Given the description of an element on the screen output the (x, y) to click on. 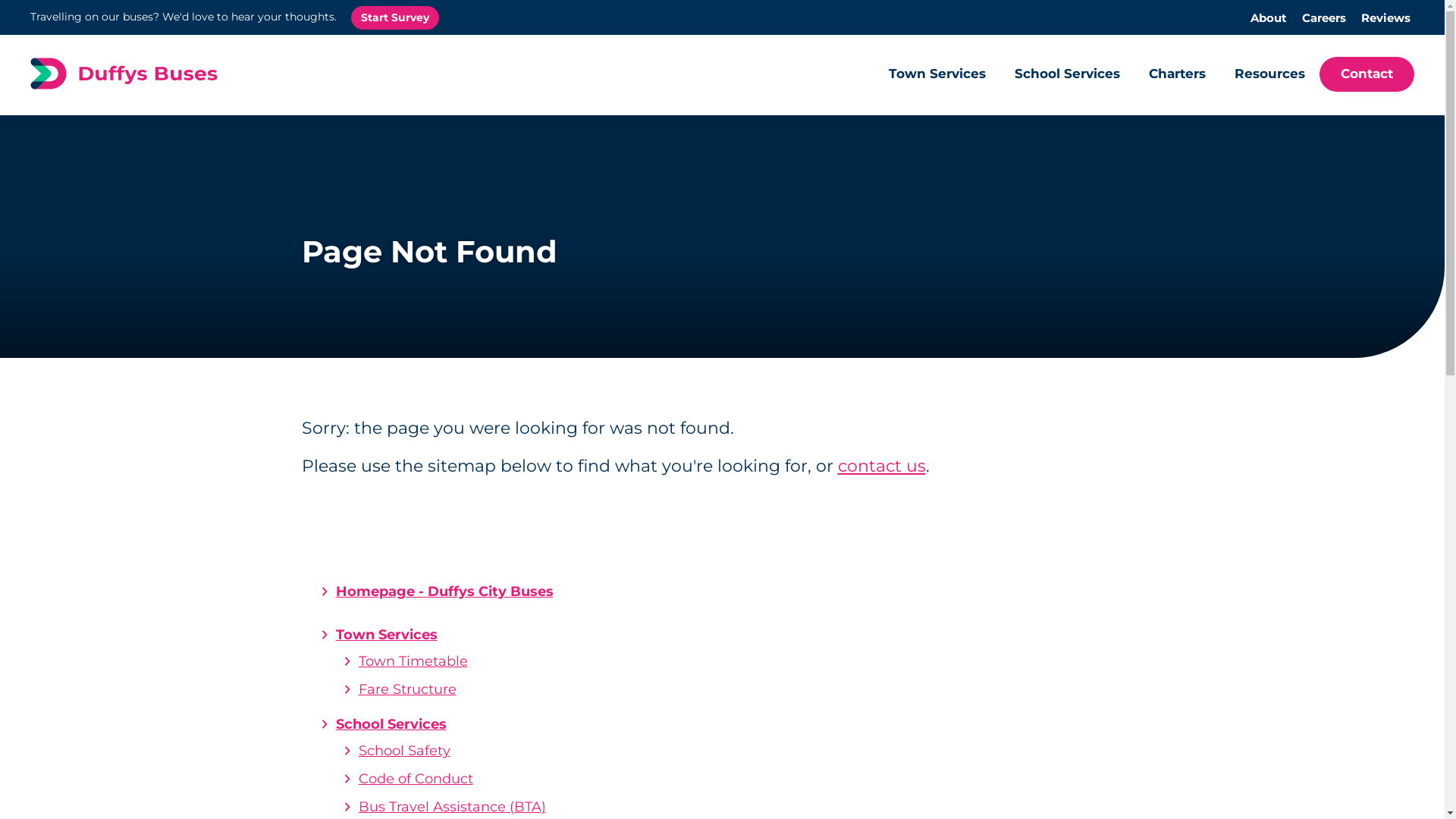
Town Timetable Element type: text (412, 660)
Careers Element type: text (1324, 17)
About Element type: text (1268, 17)
Charters Element type: text (1177, 74)
Fare Structure Element type: text (406, 688)
contact us Element type: text (881, 465)
School Safety Element type: text (403, 750)
Bus Travel Assistance (BTA) Element type: text (451, 806)
Contact Element type: text (1366, 74)
Homepage - Duffys City Buses Element type: text (733, 591)
School Services Element type: text (522, 724)
Town Services Element type: text (937, 74)
Town Services Element type: text (522, 634)
Resources Element type: text (1269, 74)
Duffys City Buses Element type: hover (115, 74)
Code of Conduct Element type: text (414, 778)
School Services Element type: text (1067, 74)
Reviews Element type: text (1385, 17)
Start Survey Element type: text (395, 17)
